Given the description of an element on the screen output the (x, y) to click on. 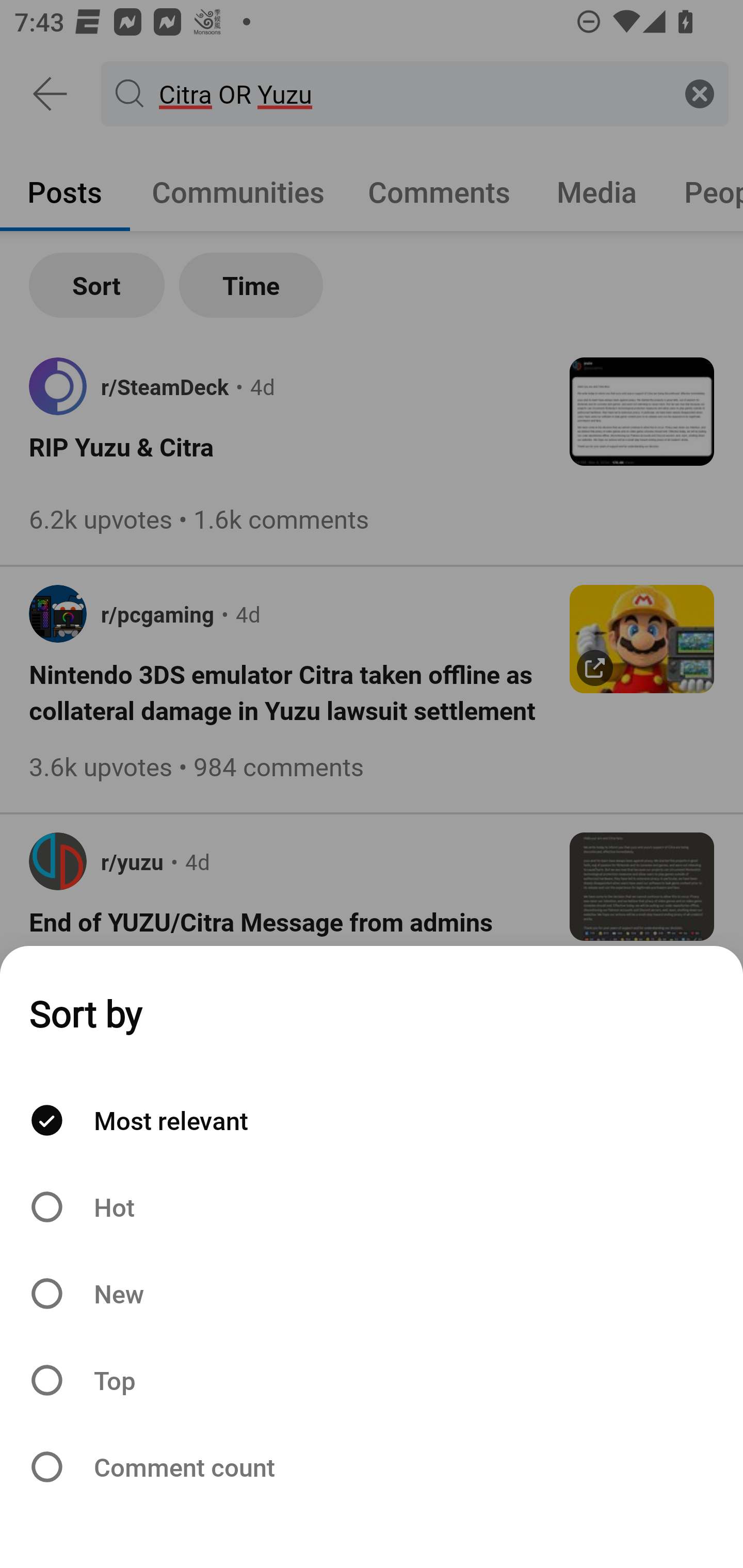
Sort by Most relevant Most relevant (371, 1120)
Sort by Hot Hot (371, 1206)
Sort by New New (371, 1293)
Sort by Top Top (371, 1380)
Sort by Comment count Comment count (371, 1466)
